Given the description of an element on the screen output the (x, y) to click on. 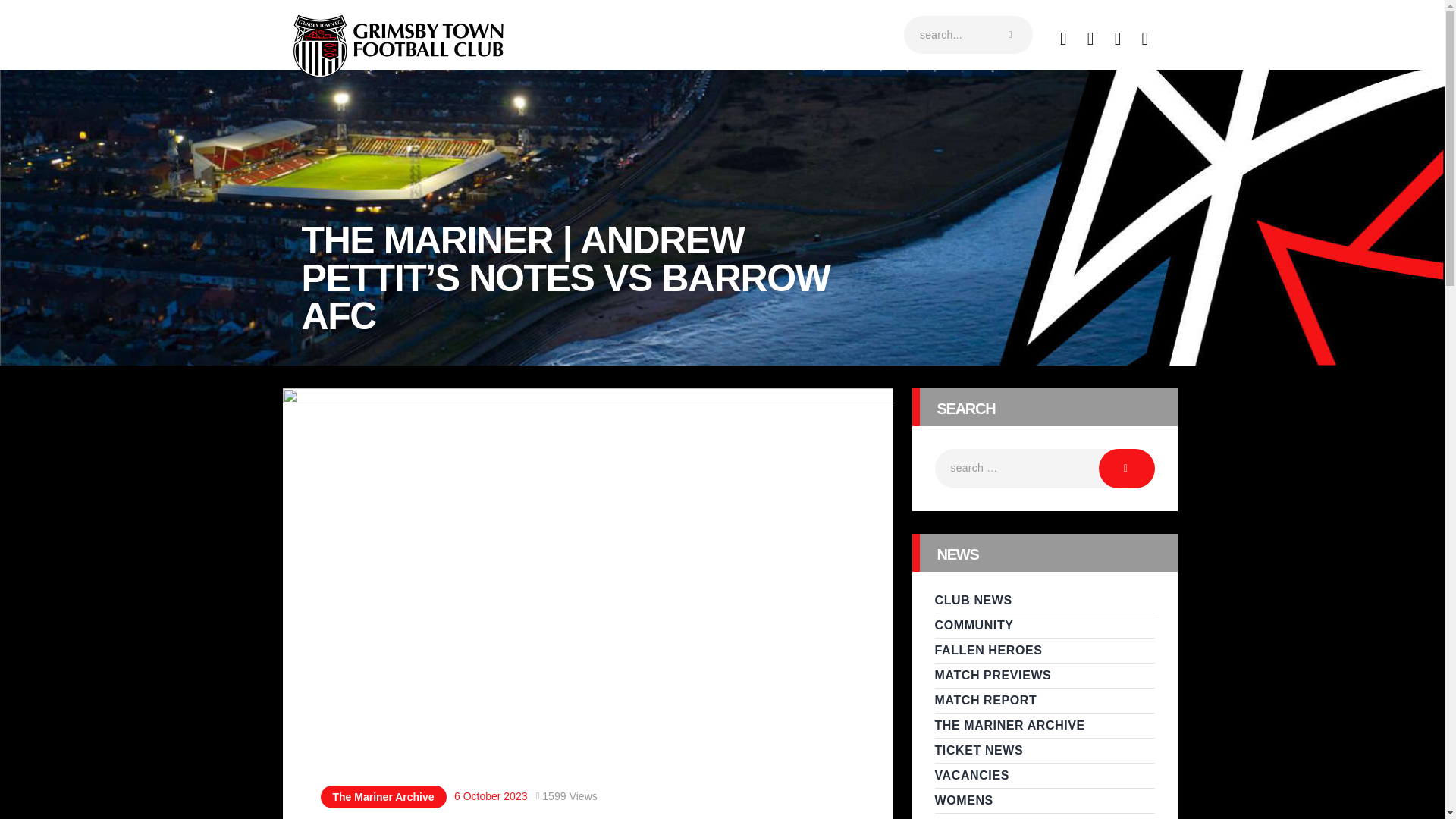
Search (1126, 468)
Search (1126, 468)
